Given the description of an element on the screen output the (x, y) to click on. 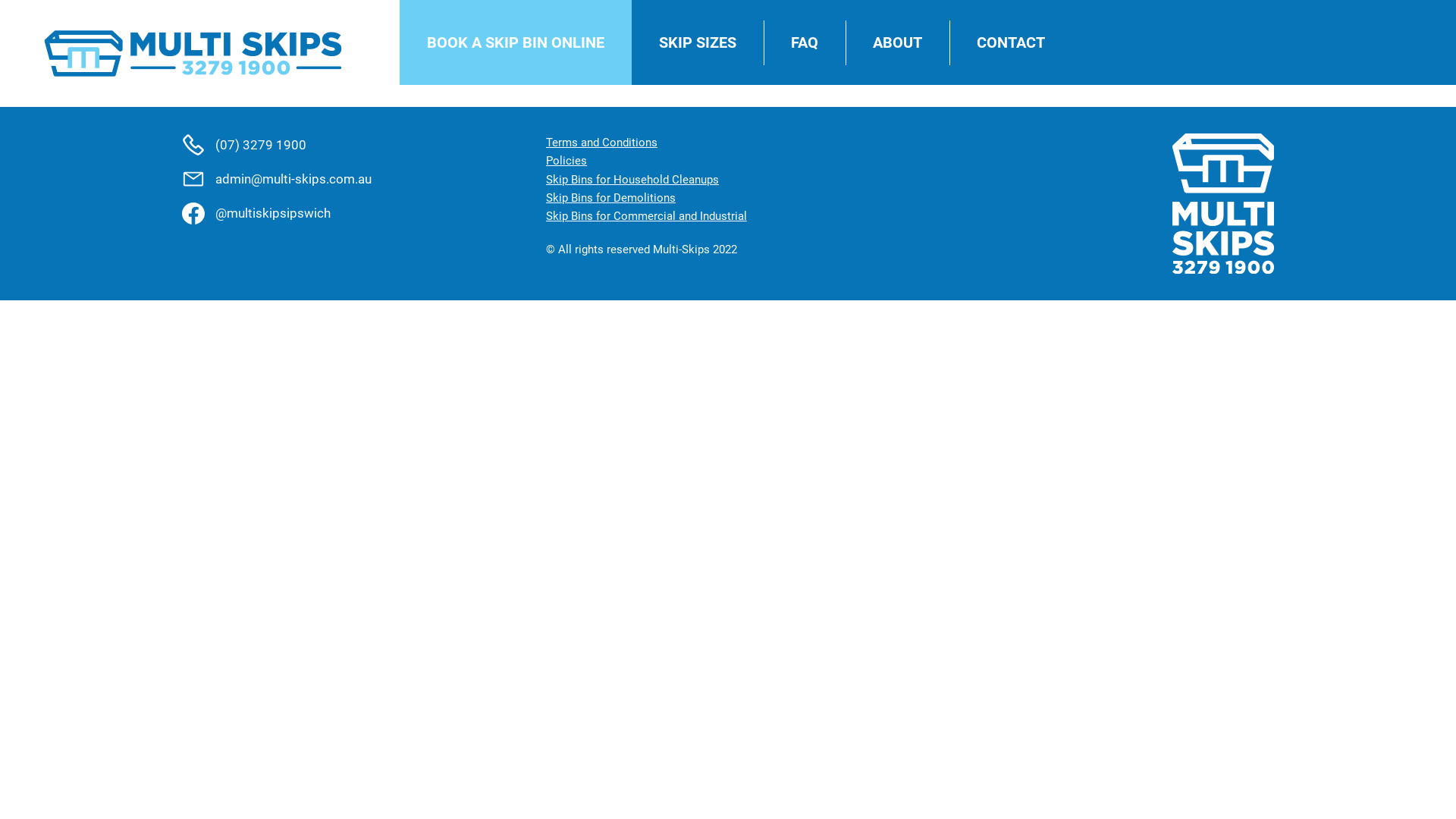
@multiskipsipswich Element type: text (364, 212)
Skip Bins for Household Cleanups Element type: text (632, 179)
SKIP SIZES Element type: text (697, 42)
Skip Bins for Commercial and Industrial Element type: text (646, 215)
CONTACT Element type: text (1010, 42)
BOOK A SKIP BIN ONLINE Element type: text (515, 42)
Skip Bins for Demolitions Element type: text (610, 197)
Policies Element type: text (566, 160)
admin@multi-skips.com.au Element type: text (364, 178)
ABOUT Element type: text (897, 42)
Terms and Conditions Element type: text (601, 142)
FAQ Element type: text (804, 42)
(07) 3279 1900 Element type: text (364, 144)
